Given the description of an element on the screen output the (x, y) to click on. 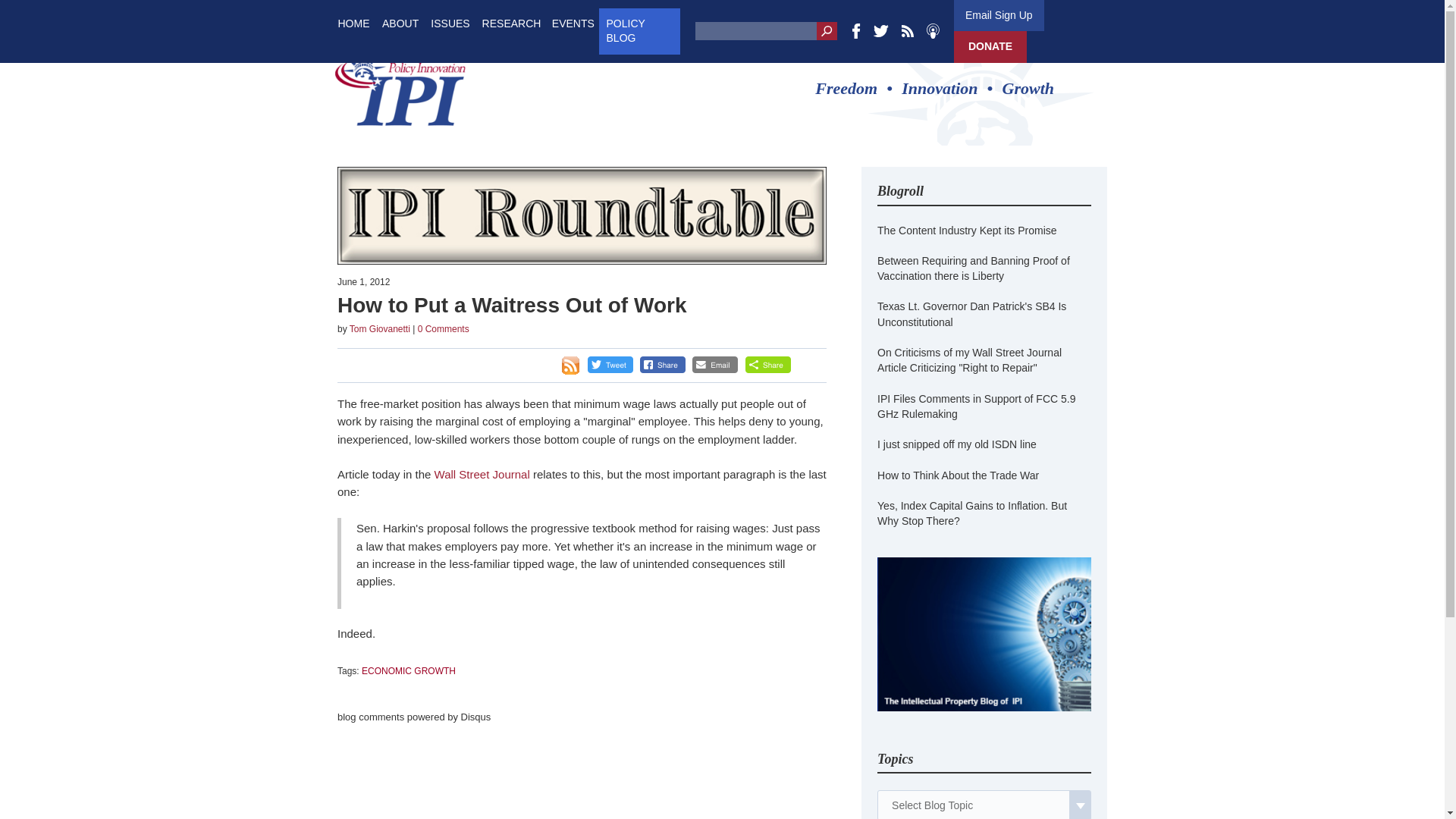
ABOUT (400, 23)
Tom Giovanetti (379, 328)
IPI (400, 87)
DONATE (989, 46)
ISSUES (450, 23)
EVENTS (573, 23)
HOME (353, 23)
blog comments powered by Disqus (413, 716)
Wall Street Journal (482, 473)
Email Sign Up (998, 15)
